Given the description of an element on the screen output the (x, y) to click on. 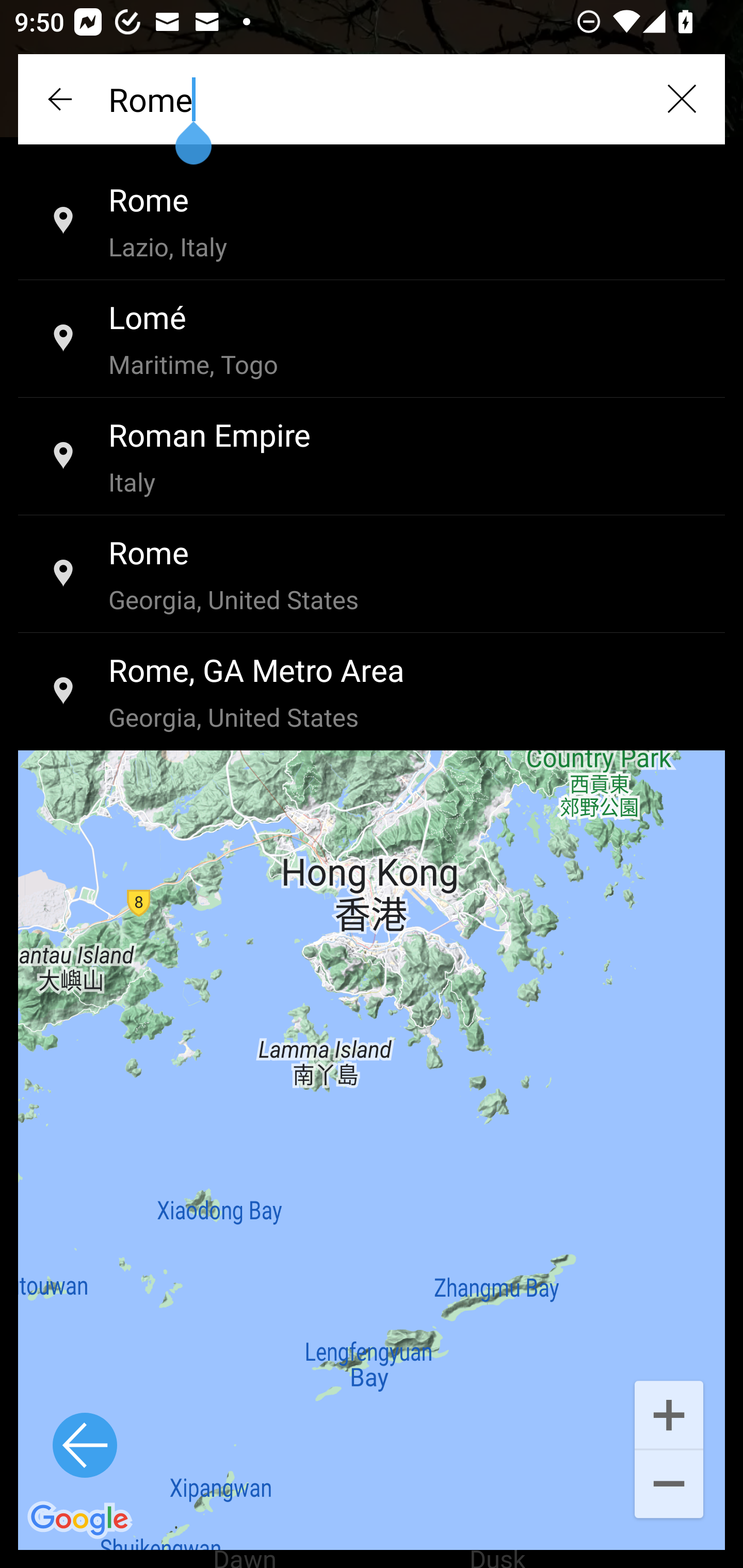
Rome (371, 99)
 (681, 99)
 (61, 99)
 Rome Lazio, Italy (371, 221)
 Lomé Maritime, Togo (371, 339)
 Roman Empire Italy (371, 456)
 Rome Georgia, United States (371, 574)
 Rome, GA Metro Area Georgia, United States (371, 692)
Zoom in (668, 1413)
Zoom out (668, 1485)
